Given the description of an element on the screen output the (x, y) to click on. 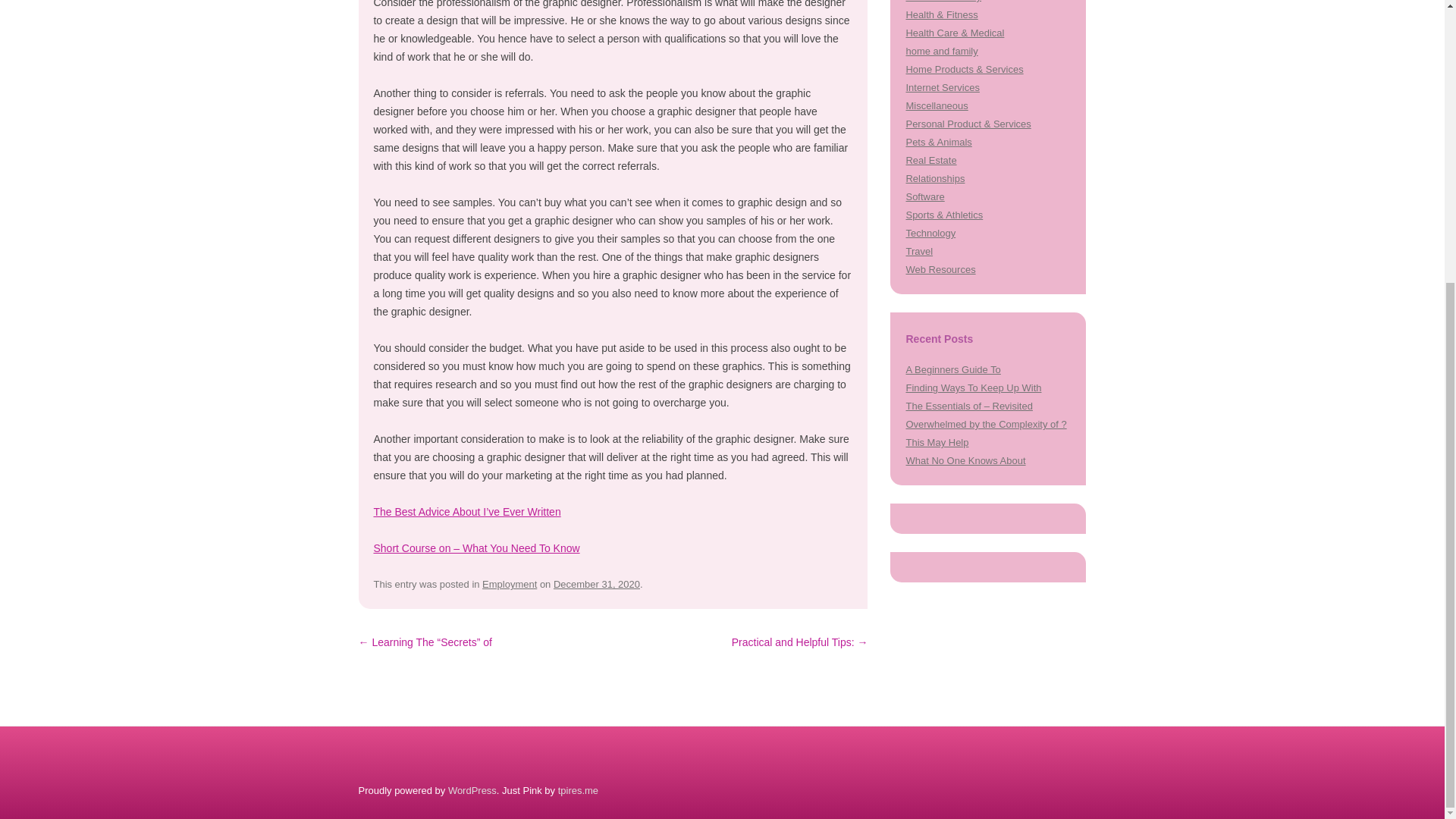
Software (924, 196)
Semantic Personal Publishing Platform (472, 790)
Web Resources (940, 269)
home and family (940, 50)
Overwhelmed by the Complexity of ? This May Help (985, 432)
A Beginners Guide To (952, 369)
Relationships (934, 178)
Real Estate (930, 160)
Miscellaneous (936, 105)
Employment (509, 583)
